Given the description of an element on the screen output the (x, y) to click on. 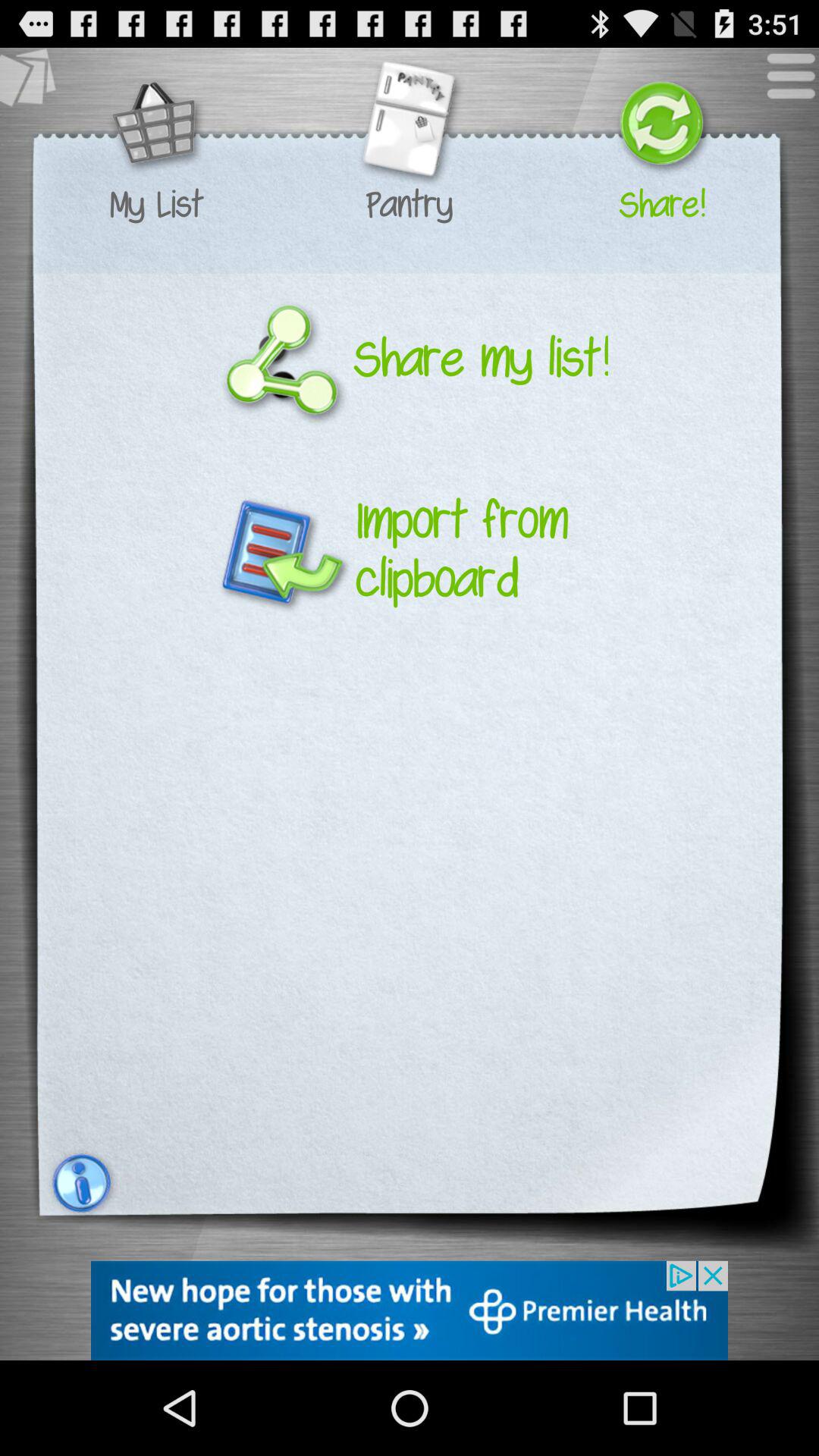
click the pantry option (408, 125)
